Given the description of an element on the screen output the (x, y) to click on. 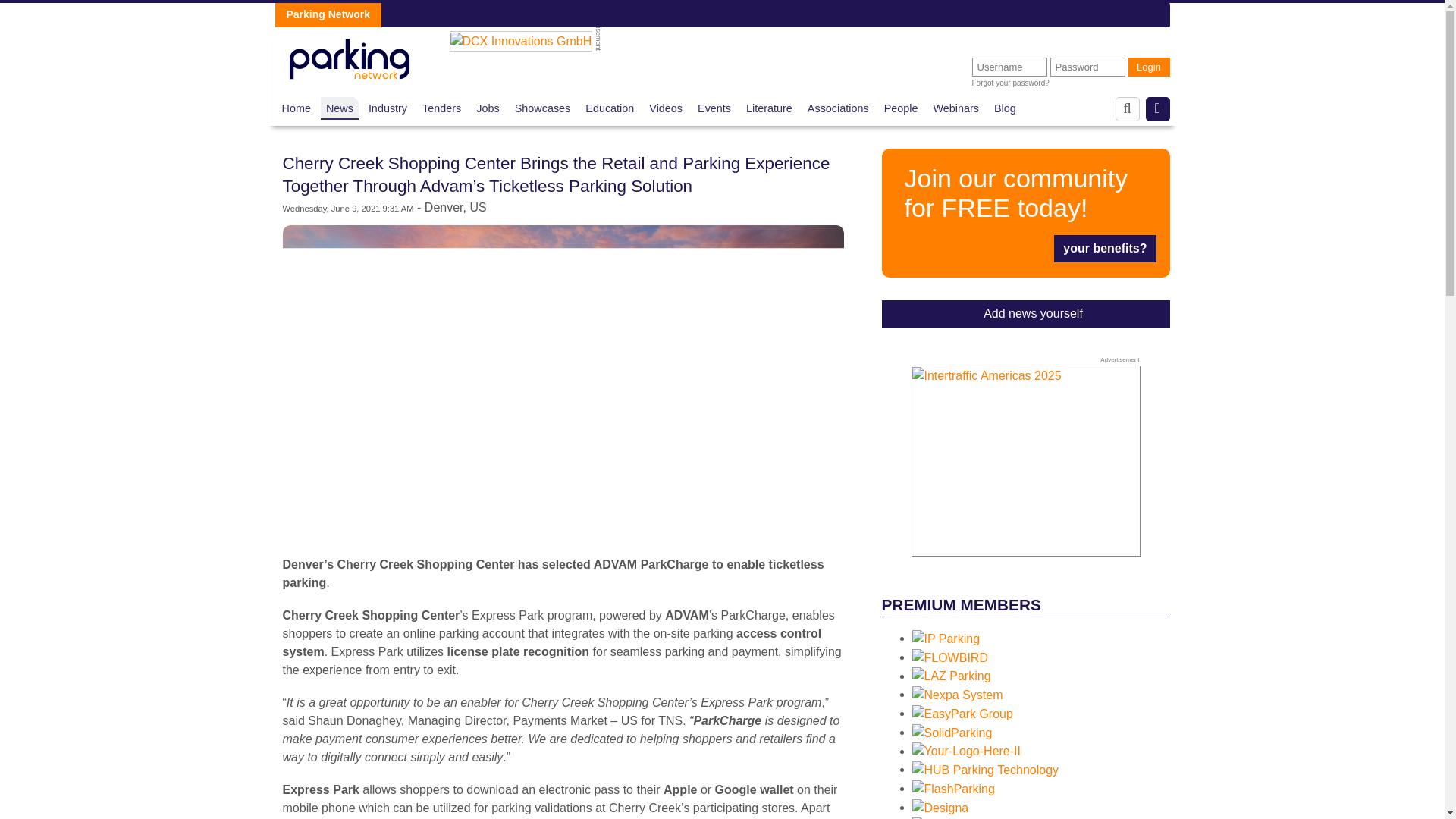
People (900, 108)
Events (713, 108)
Industry (387, 108)
Showcases (542, 108)
Videos (665, 108)
Parking Network (349, 54)
News (339, 108)
Blog (1005, 108)
Home (296, 108)
Education (609, 108)
Jobs (487, 108)
Literature (768, 108)
Reset your password (1010, 83)
Register here (1024, 212)
